Given the description of an element on the screen output the (x, y) to click on. 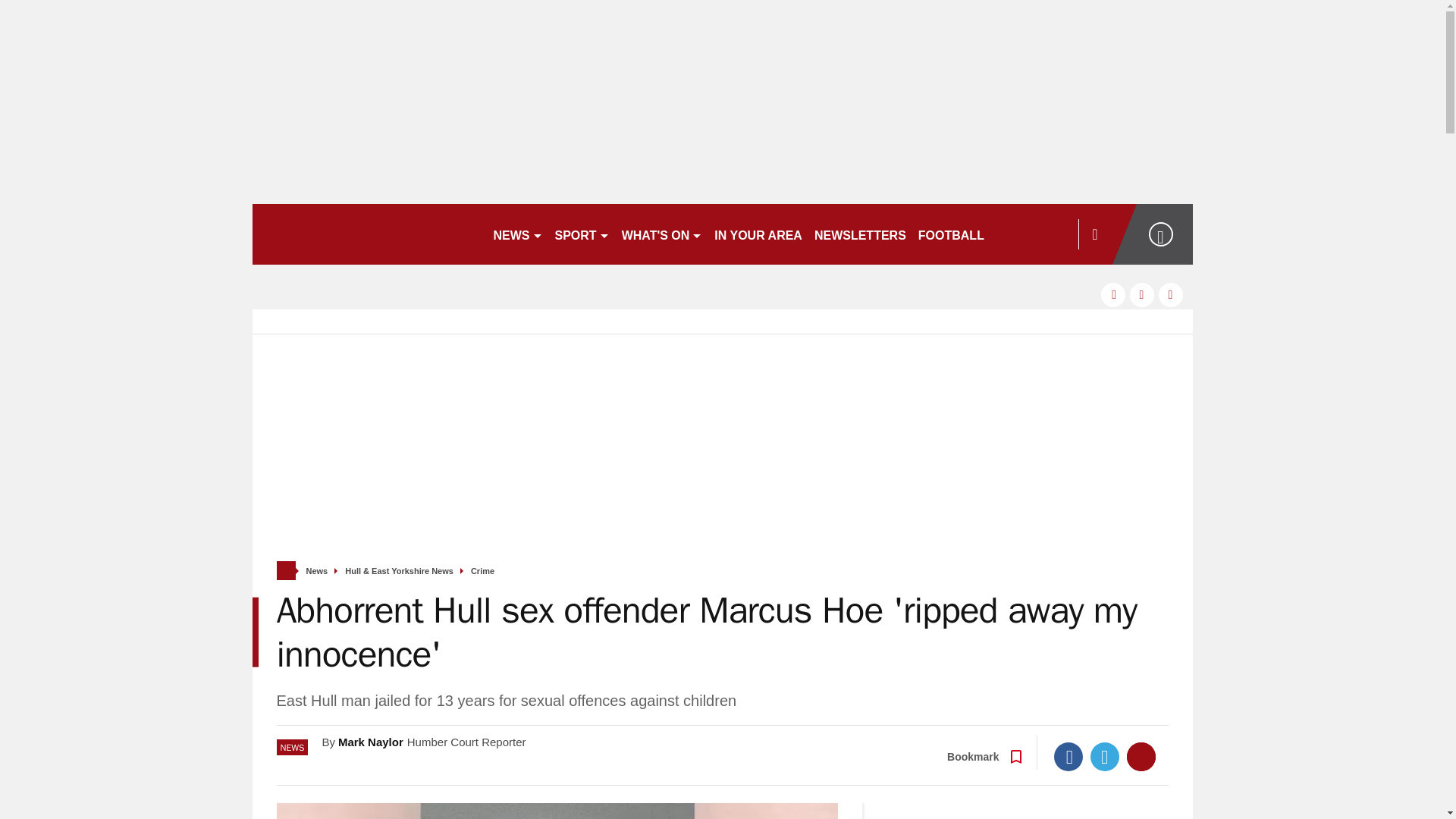
RUGBY LEAGUE (1045, 233)
facebook (1112, 294)
WHAT'S ON (662, 233)
Facebook (1068, 756)
hulldailymail (365, 233)
Twitter (1104, 756)
NEWS (517, 233)
FOOTBALL (951, 233)
SPORT (581, 233)
instagram (1170, 294)
